Given the description of an element on the screen output the (x, y) to click on. 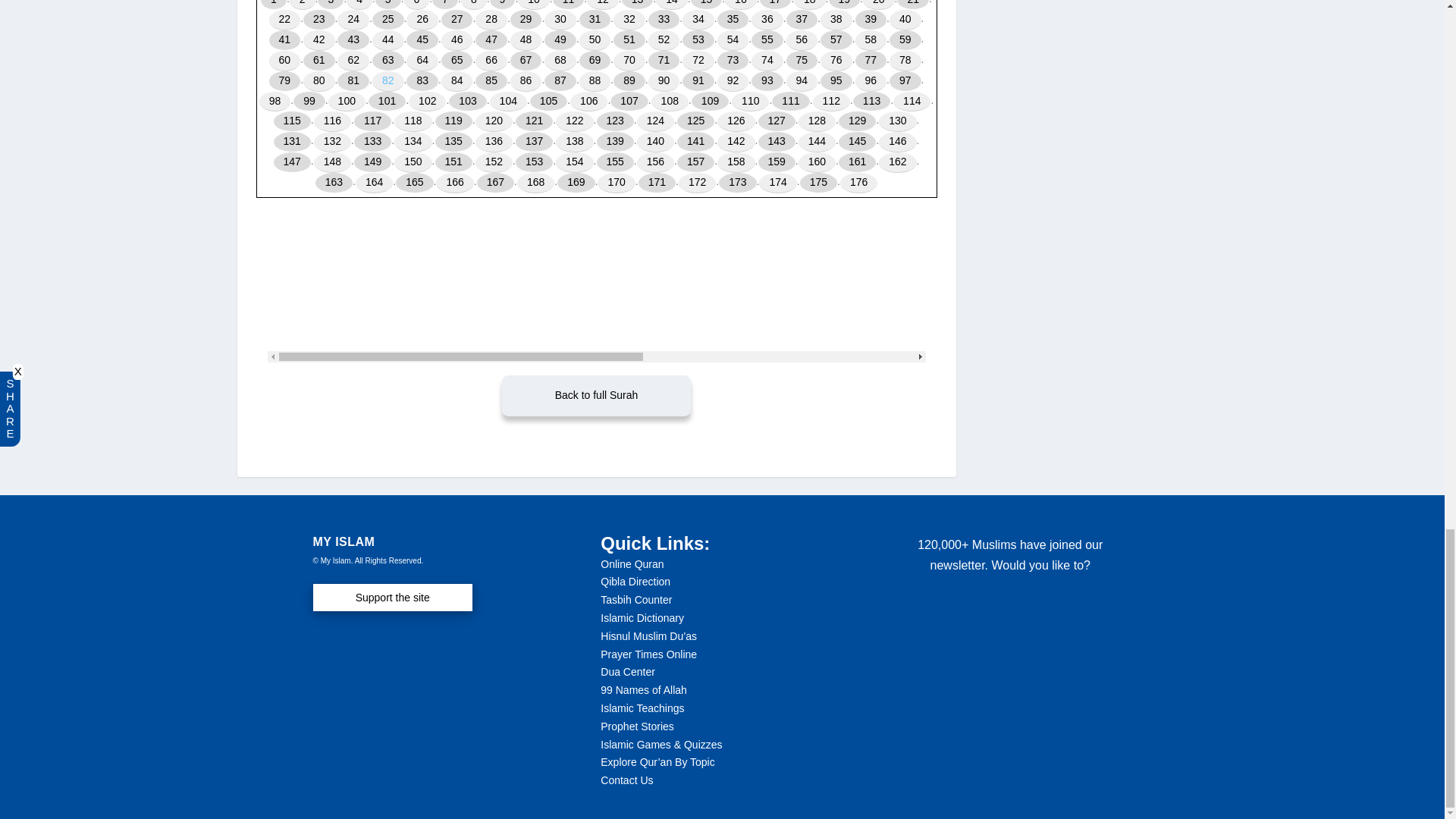
1 (273, 5)
2 (302, 5)
9 (502, 5)
5 (388, 5)
8 (473, 5)
10 (534, 5)
3 (330, 5)
11 (569, 5)
6 (416, 5)
4 (359, 5)
12 (602, 5)
7 (445, 5)
